Given the description of an element on the screen output the (x, y) to click on. 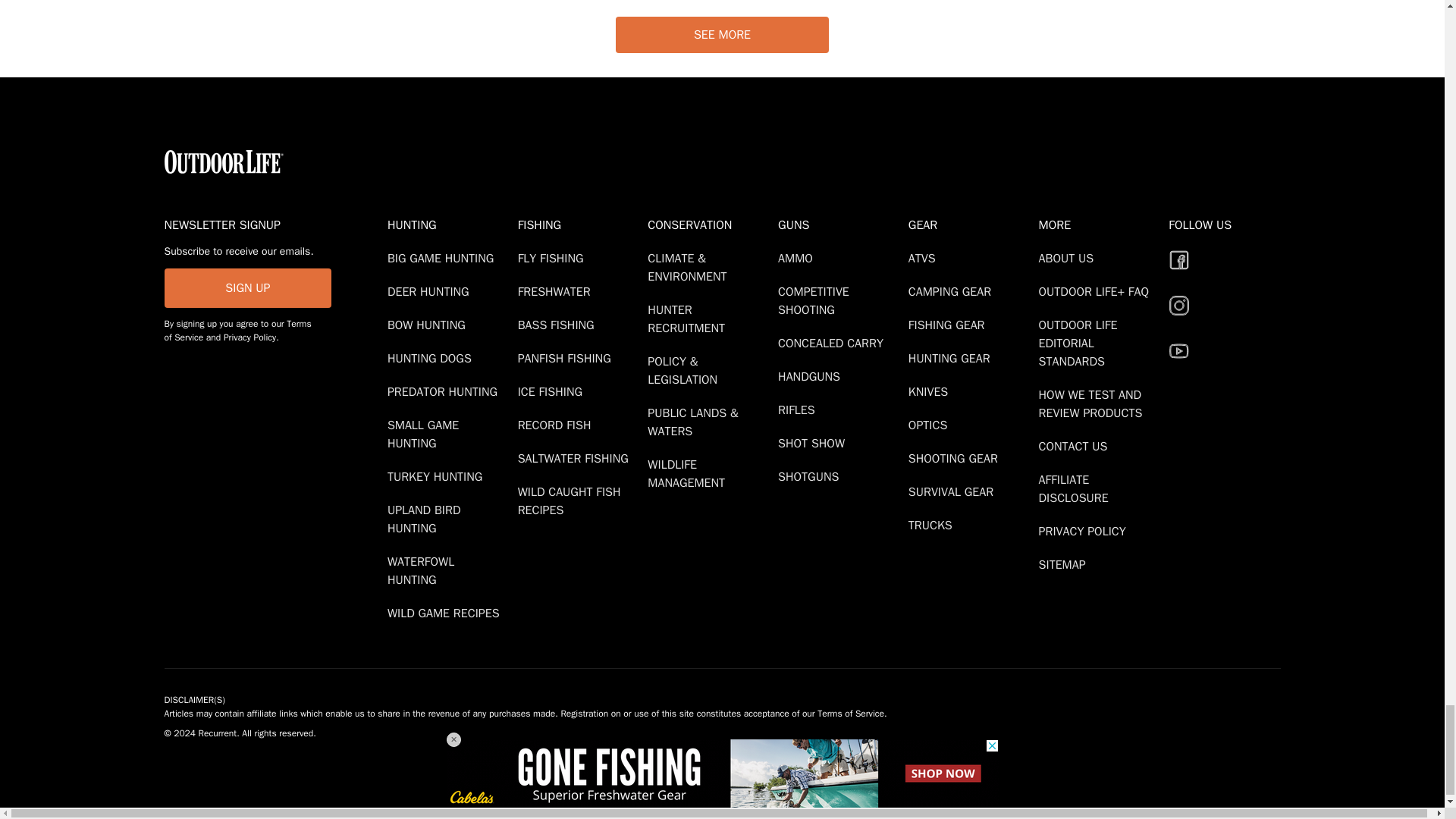
Big Game Hunting (443, 258)
Hunting (449, 225)
